Given the description of an element on the screen output the (x, y) to click on. 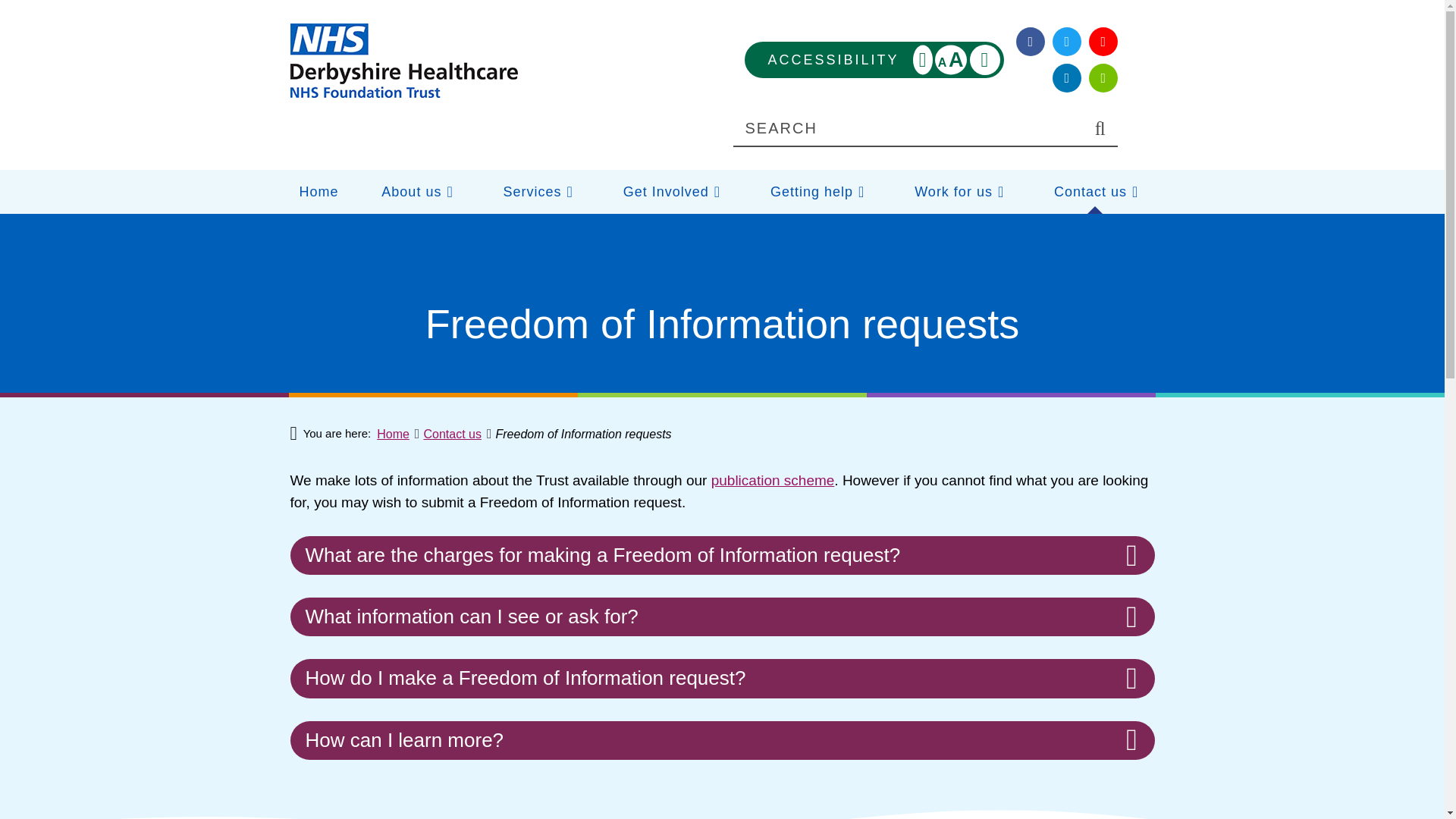
About us (873, 59)
Homepage (416, 191)
Home (402, 60)
